Given the description of an element on the screen output the (x, y) to click on. 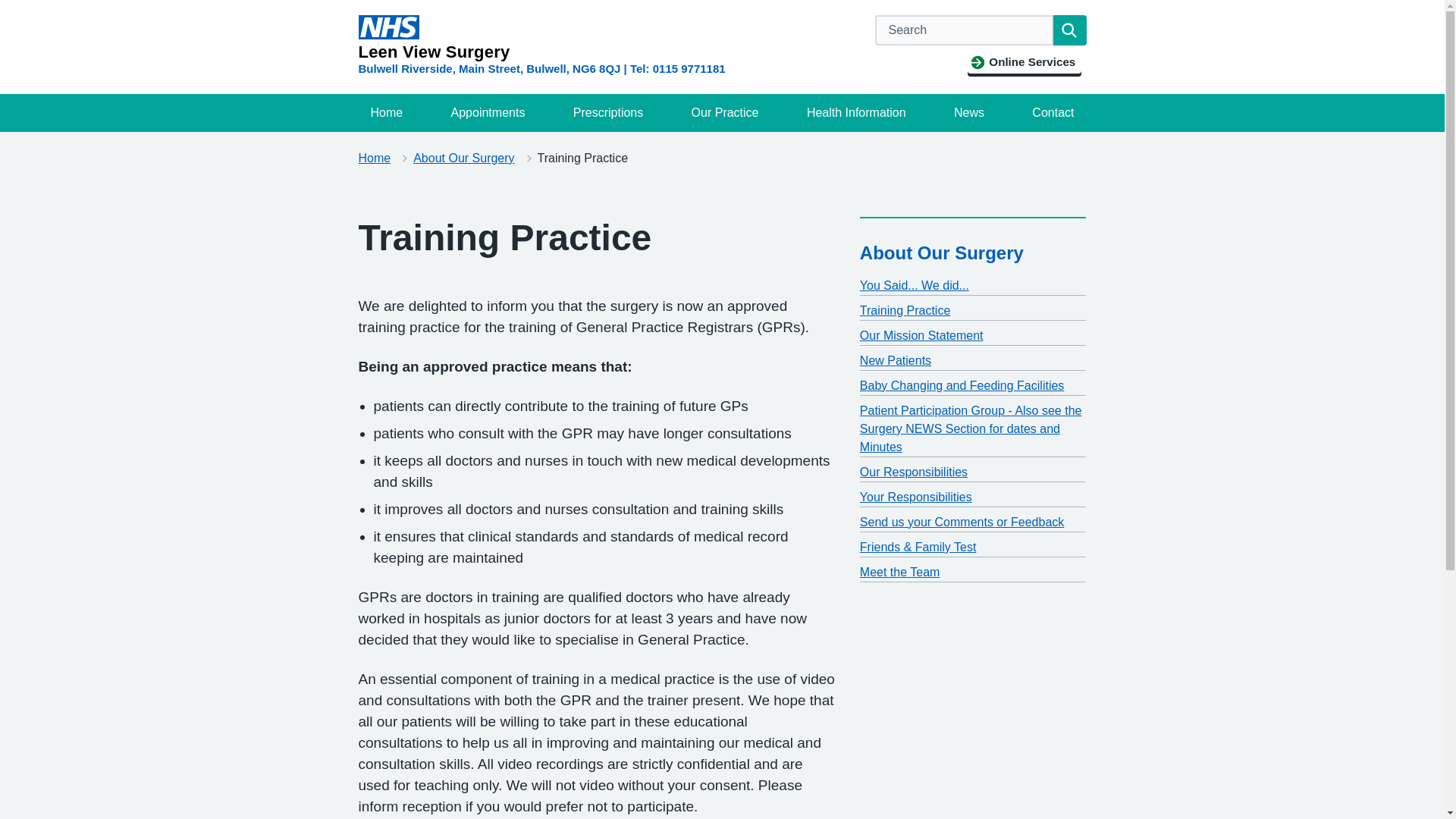
Training Practice (905, 309)
Search (1069, 30)
Prescriptions (607, 112)
New Patients (895, 359)
Health Information (856, 112)
Send us your Comments or Feedback (962, 521)
Meet the Team (900, 571)
NHS Logo (388, 27)
Your Responsibilities (916, 496)
About Our Surgery (941, 252)
